Given the description of an element on the screen output the (x, y) to click on. 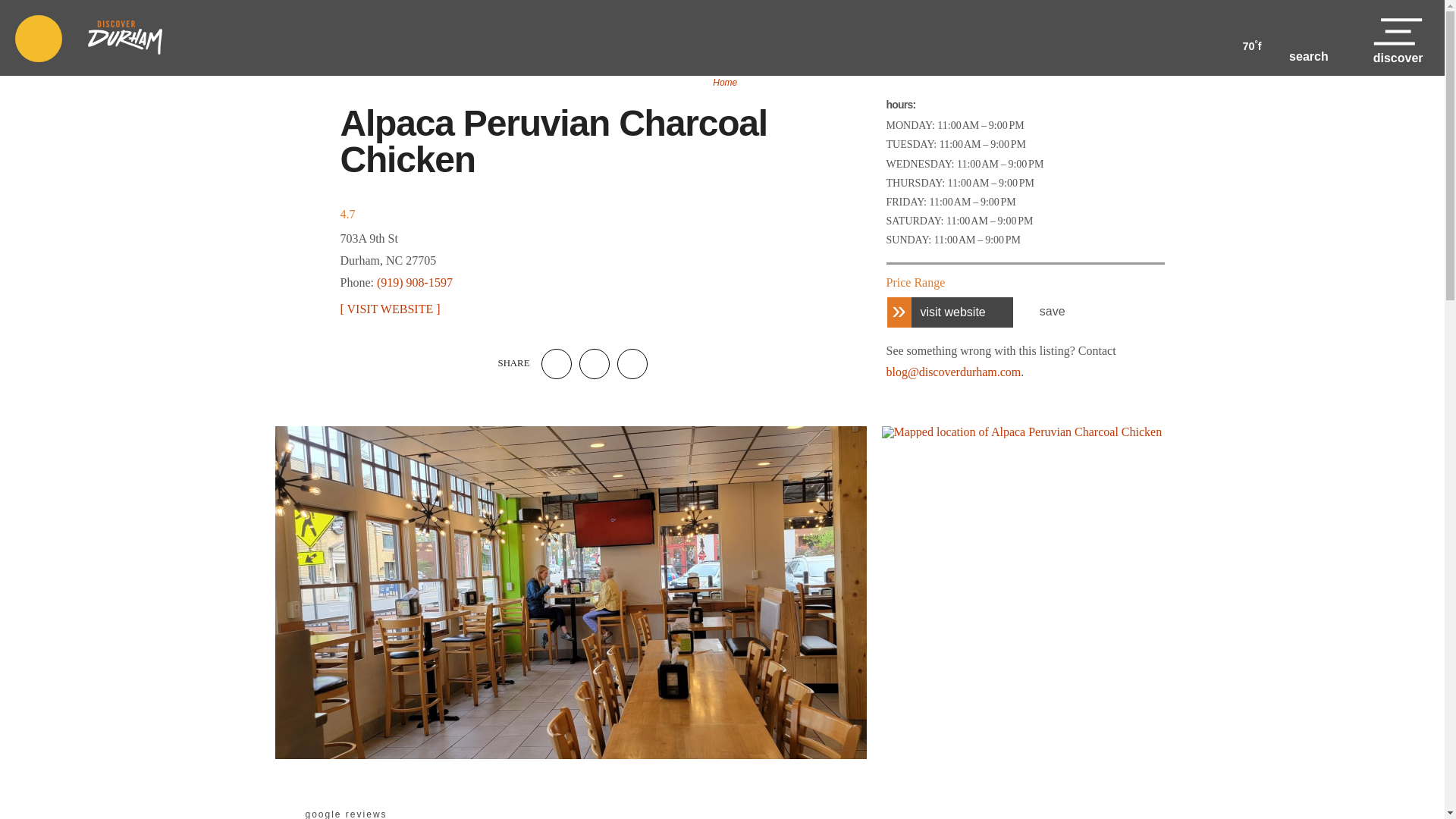
Share on Facebook (556, 363)
Email this page (632, 363)
Share on Twitter (594, 363)
search (1308, 39)
VISIT WEBSITE (389, 309)
visit website (949, 311)
Skip to content (23, 18)
save (1044, 311)
Home (724, 83)
discover (1398, 38)
